Given the description of an element on the screen output the (x, y) to click on. 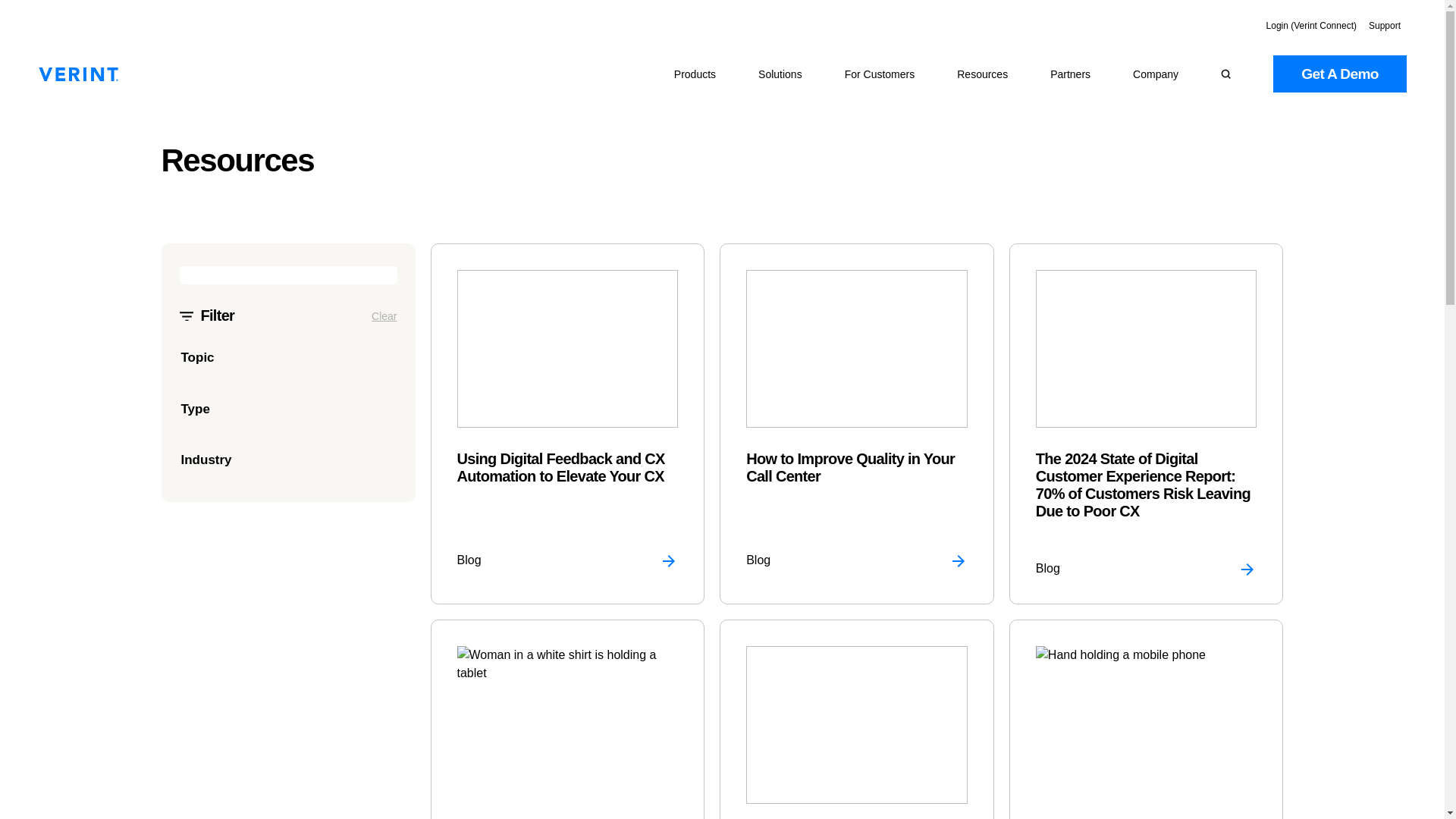
Skip to main content (15, 7)
Support (1384, 25)
Products (694, 73)
For Customers (880, 73)
Verint (78, 74)
Solutions (780, 73)
